Given the description of an element on the screen output the (x, y) to click on. 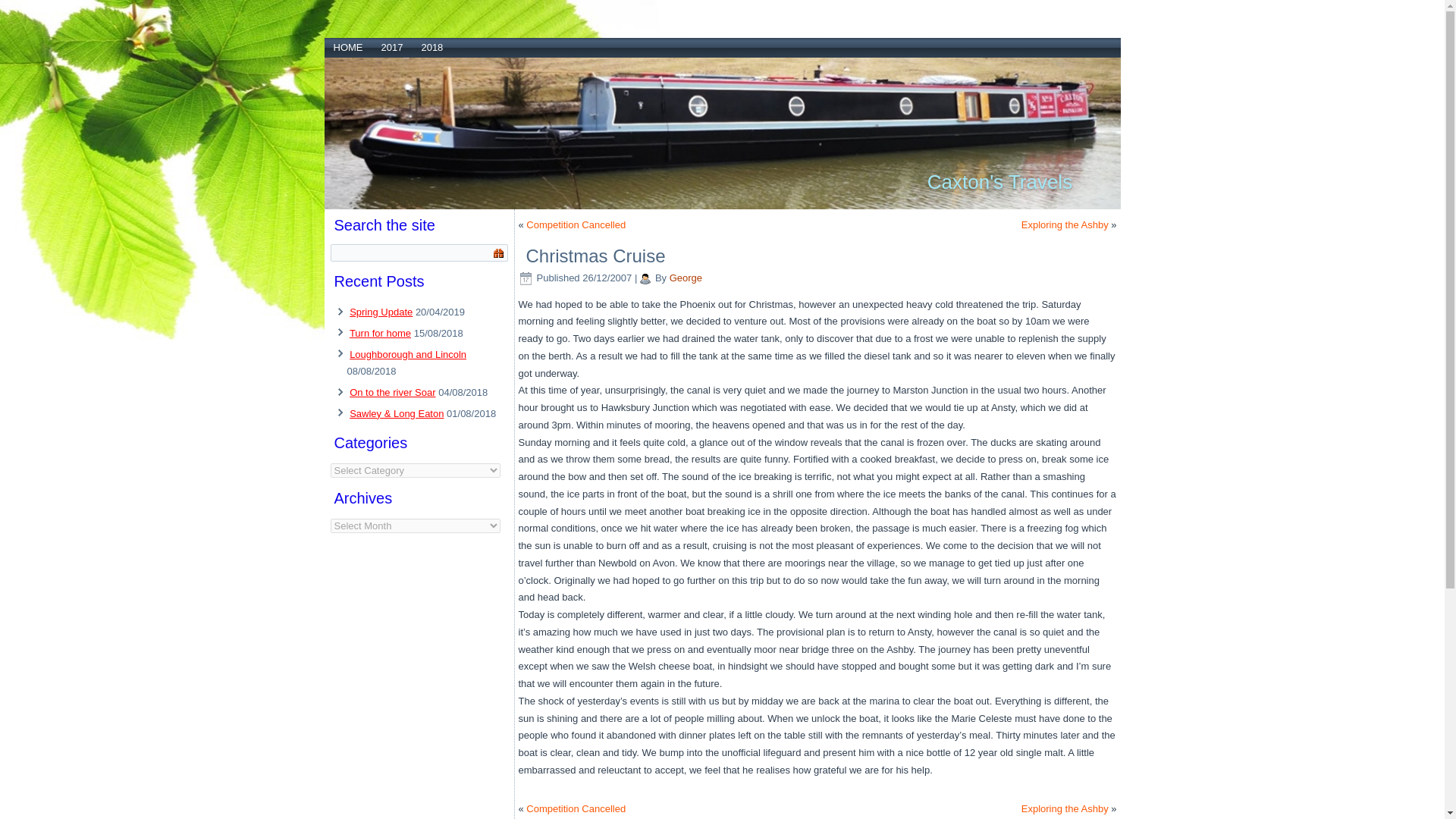
2017 (391, 47)
2018 (431, 47)
Exploring the Ashby (1065, 224)
2017 (391, 47)
Competition Cancelled (575, 224)
HOME (348, 47)
Spring Update (380, 311)
2018 (431, 47)
Competition Cancelled (575, 808)
Competition Cancelled (575, 224)
